Given the description of an element on the screen output the (x, y) to click on. 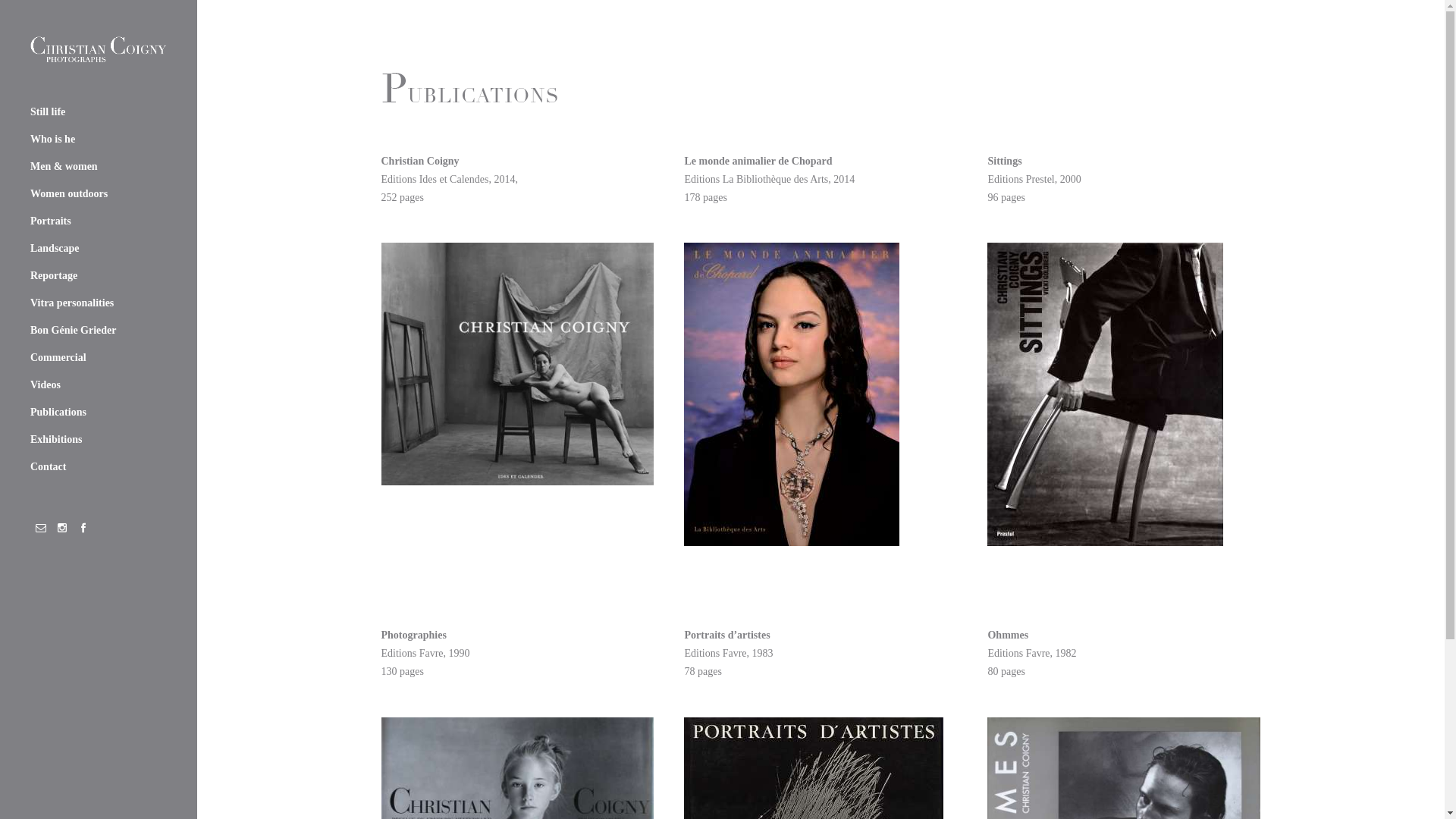
Reportage Element type: text (98, 275)
Landscape Element type: text (98, 248)
Still life Element type: text (98, 111)
social_instagram Element type: text (61, 527)
Publications Element type: text (98, 412)
social_facebook Element type: text (83, 527)
Exhibitions Element type: text (98, 439)
Vitra personalities Element type: text (98, 302)
Portraits Element type: text (98, 221)
Videos Element type: text (98, 384)
Men & women Element type: text (98, 166)
Christian Coigny Element type: hover (98, 49)
Contact Element type: text (98, 466)
social_email Element type: text (40, 527)
Who is he Element type: text (98, 139)
Women outdoors Element type: text (98, 193)
Commercial Element type: text (98, 357)
